Given the description of an element on the screen output the (x, y) to click on. 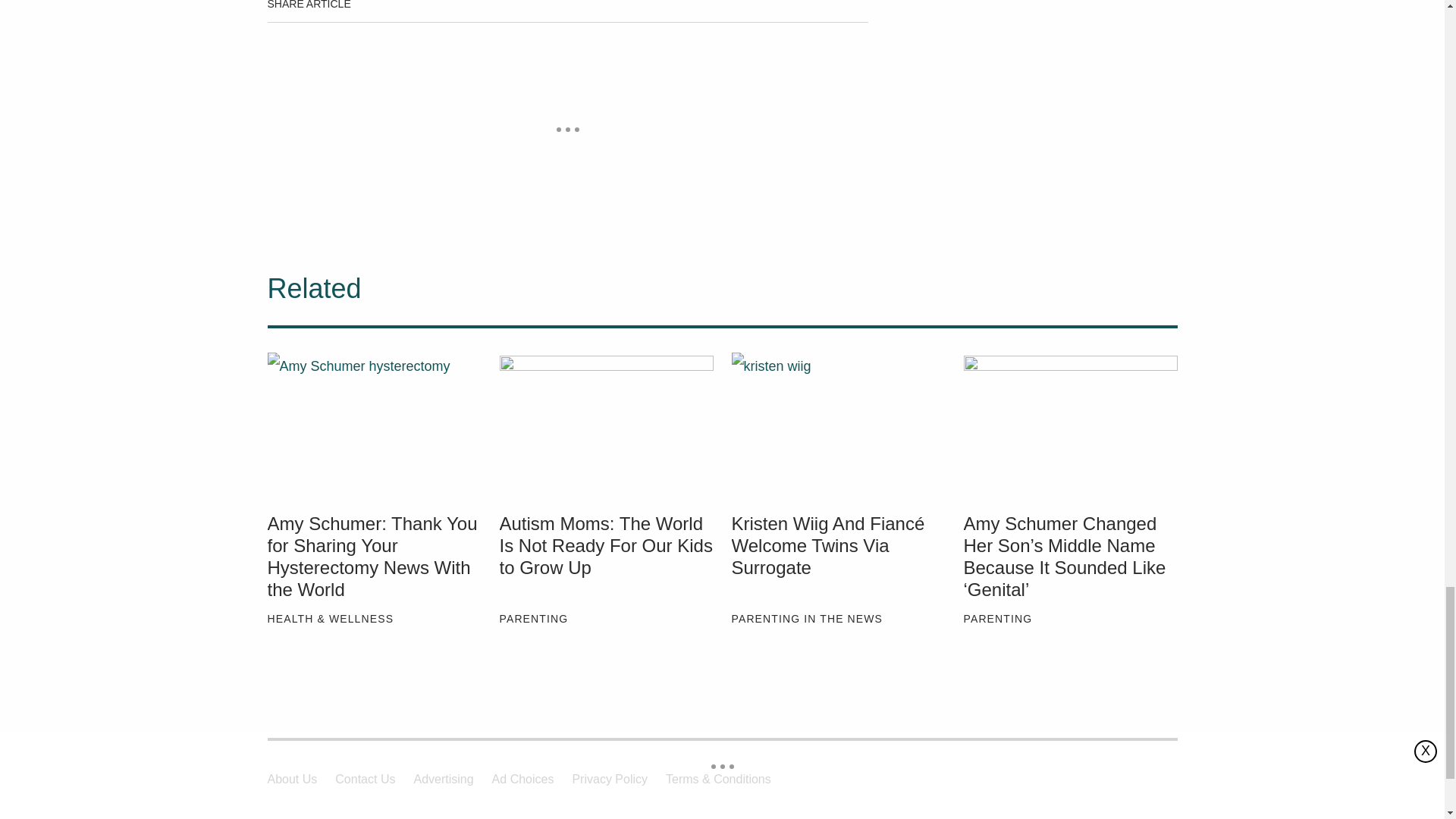
Autism Moms: The World Is Not Ready For Our Kids to Grow Up (606, 423)
Autism Moms: The World Is Not Ready For Our Kids to Grow Up (606, 556)
